Given the description of an element on the screen output the (x, y) to click on. 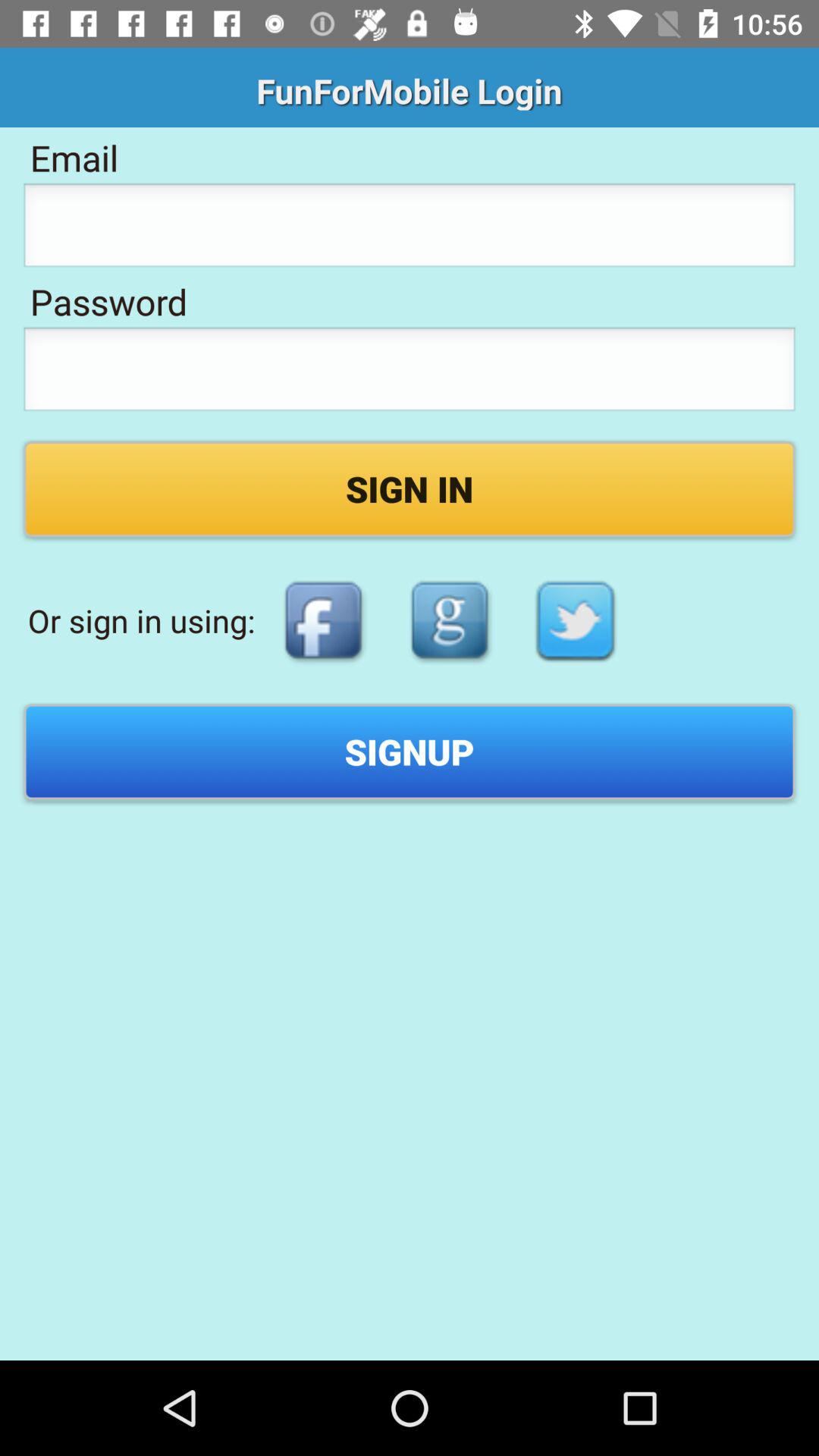
log in with twitter (576, 620)
